Given the description of an element on the screen output the (x, y) to click on. 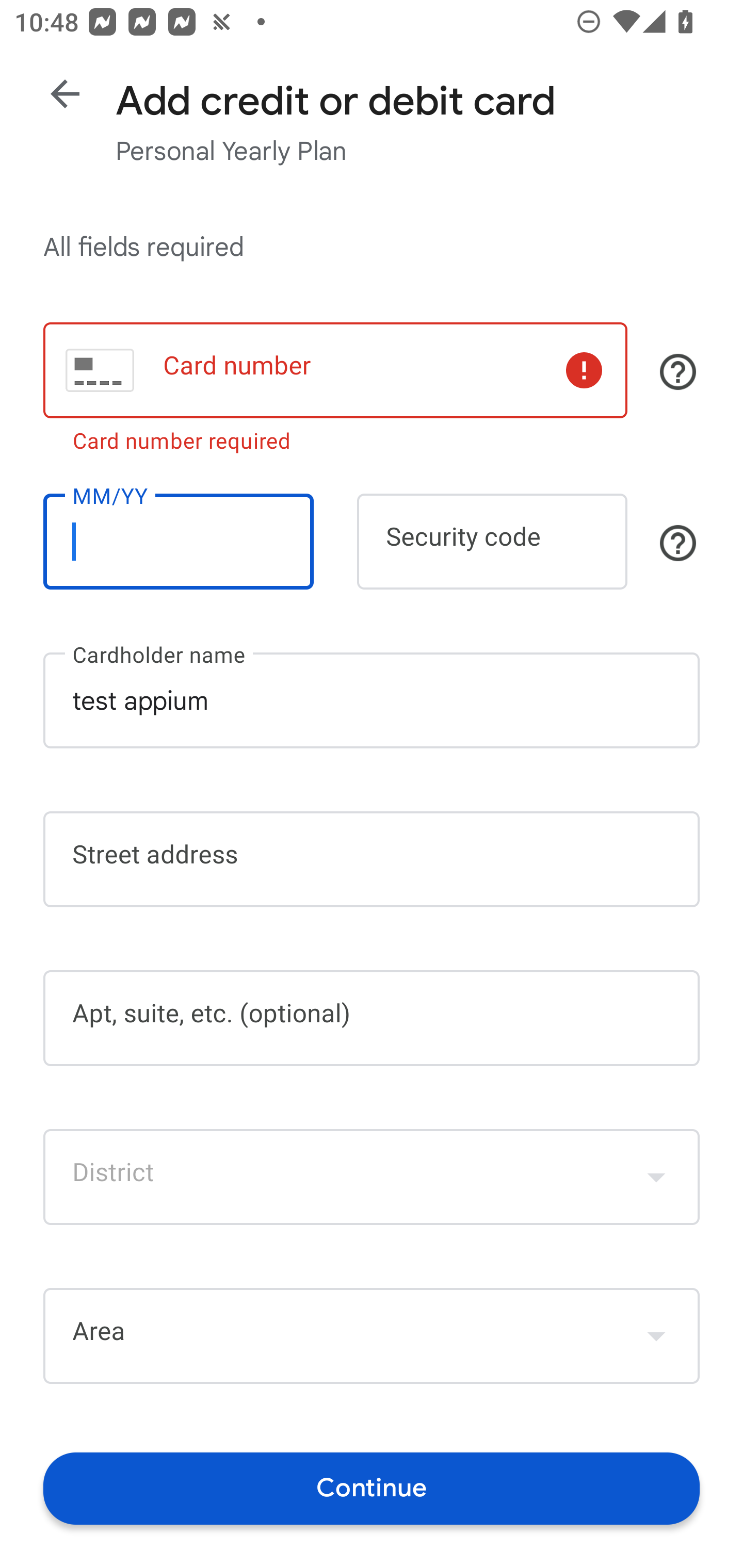
Back (64, 93)
Card number (335, 370)
Button, shows cards that are accepted for payment (677, 371)
Expiration date, 2 digit month, 2 digit year (178, 541)
Security code (492, 541)
Security code help (677, 543)
test appium (371, 699)
Street address (371, 858)
Apt, suite, etc. (optional) (371, 1018)
District (371, 1176)
Show dropdown menu (655, 1176)
Area (371, 1335)
Show dropdown menu (655, 1335)
Continue (371, 1487)
